Given the description of an element on the screen output the (x, y) to click on. 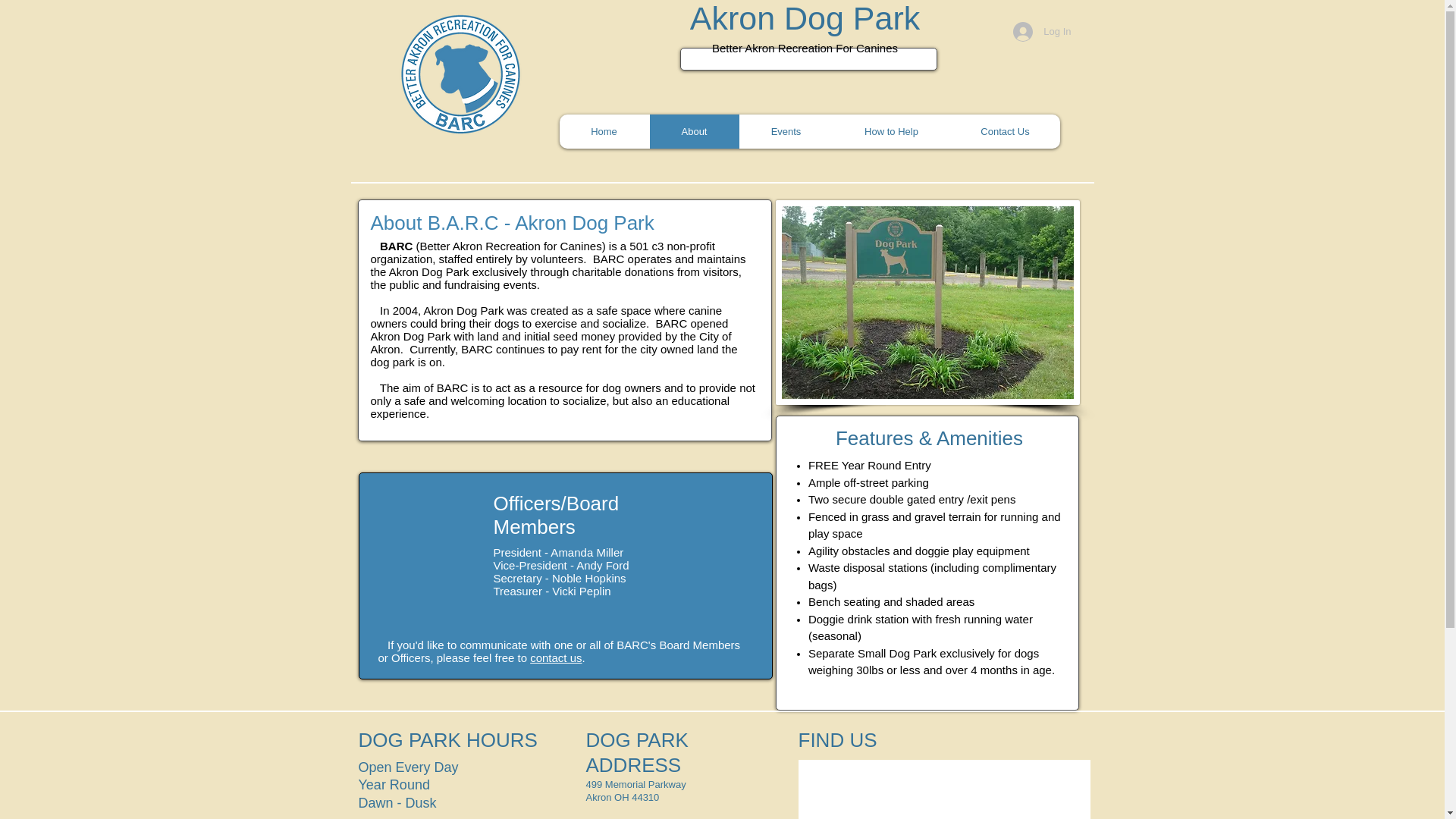
How to Help (891, 131)
BARC Akron Dog Park (460, 74)
Home (604, 131)
About (694, 131)
contact us (554, 657)
Log In (1042, 31)
Events (784, 131)
Contact Us (1004, 131)
